Given the description of an element on the screen output the (x, y) to click on. 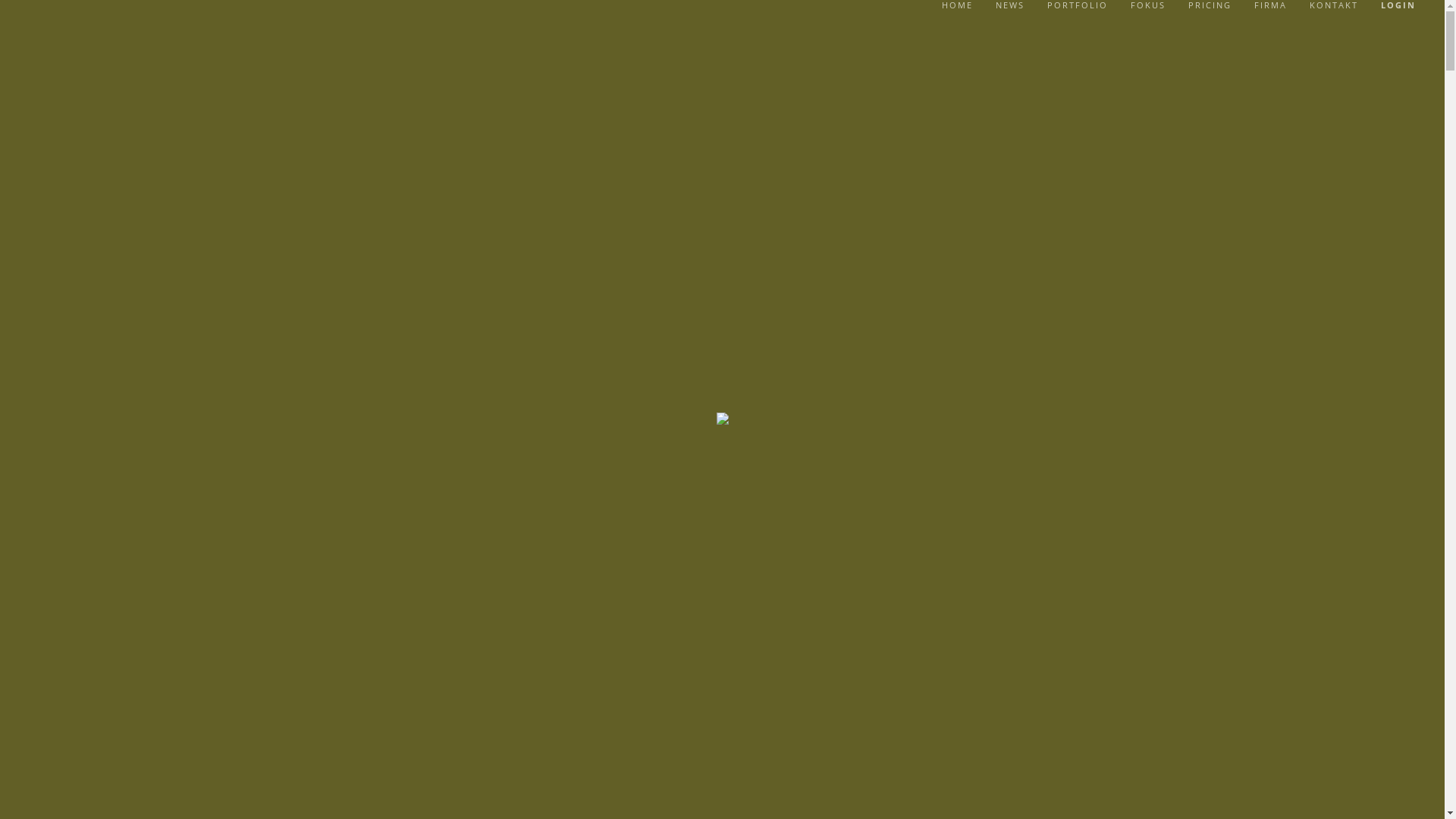
FIRMA Element type: text (1270, 5)
KONTAKT Element type: text (1333, 5)
PRICING Element type: text (1209, 5)
PORTFOLIO Element type: text (1077, 5)
HOME Element type: text (956, 5)
LOGIN Element type: text (1397, 5)
FOKUS Element type: text (1147, 5)
NEWS Element type: text (1009, 5)
